Given the description of an element on the screen output the (x, y) to click on. 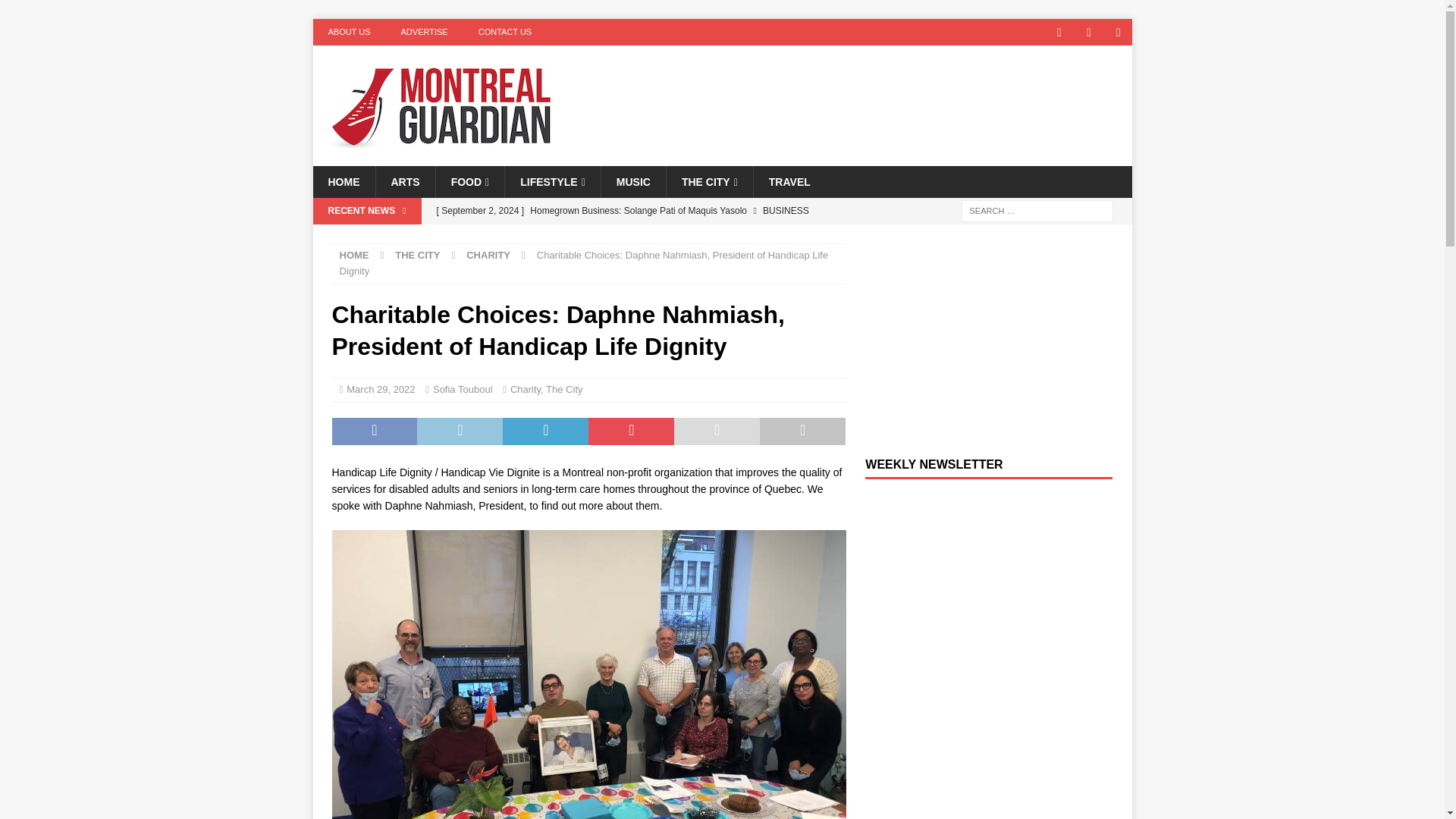
The City (564, 389)
THE CITY (416, 255)
Search (56, 11)
FOOD (470, 182)
Homegrown Business: Solange Pati of Maquis Yasolo (636, 210)
LIFESTYLE (551, 182)
ADVERTISE (424, 31)
HOME (343, 182)
Sofia Touboul (462, 389)
MUSIC (632, 182)
